Given the description of an element on the screen output the (x, y) to click on. 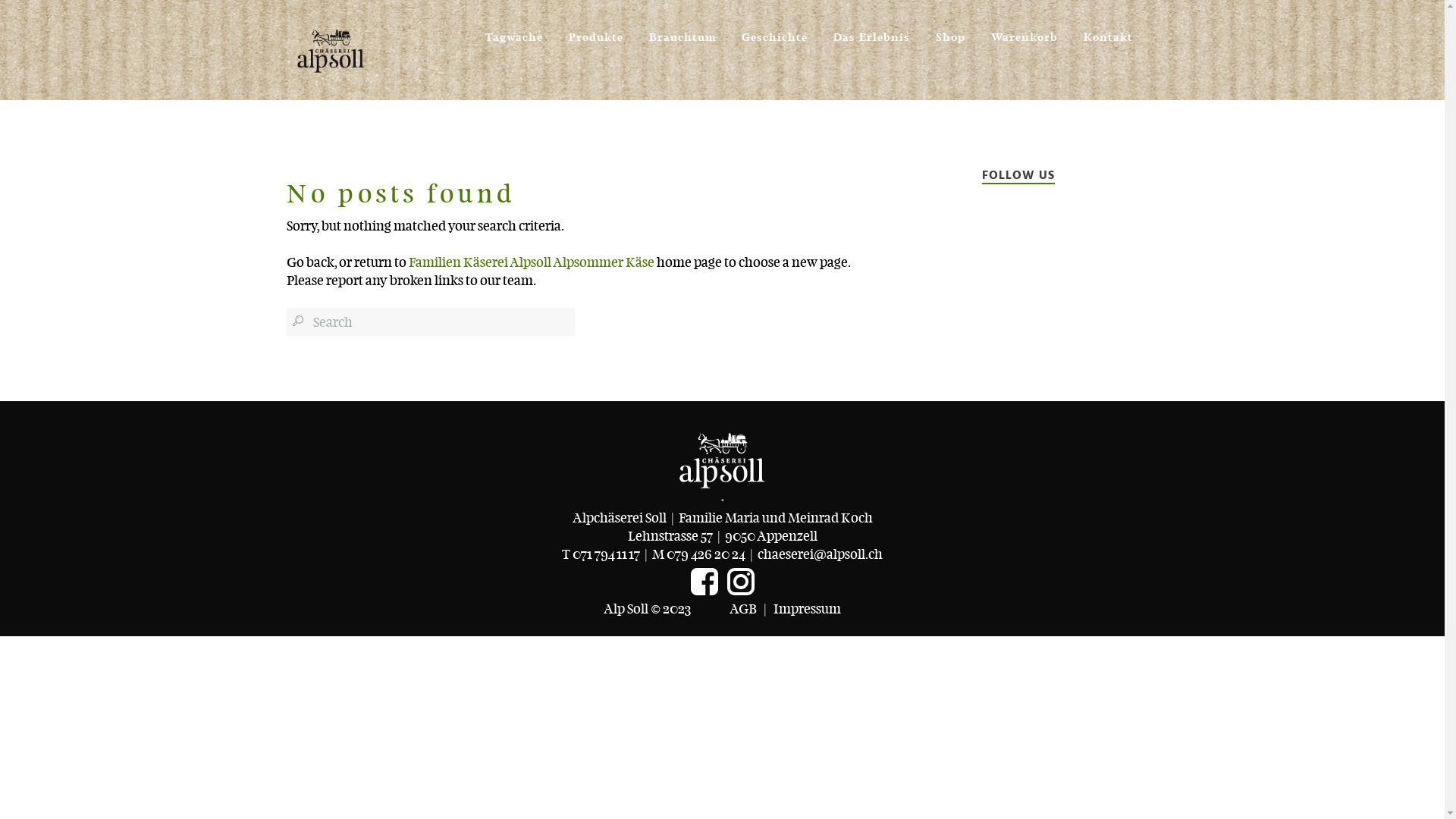
AGB Element type: text (742, 608)
Kontakt Element type: text (1107, 30)
Das Erlebnis Element type: text (871, 30)
Start search Element type: hover (296, 320)
Produkte Element type: text (595, 30)
Tagwache Element type: text (513, 30)
chaeserei@alpsoll.ch Element type: text (819, 553)
Brauchtum Element type: text (682, 30)
Geschichte Element type: text (774, 30)
Shop Element type: text (950, 30)
Warenkorb Element type: text (1024, 30)
Impressum Element type: text (806, 608)
